Given the description of an element on the screen output the (x, y) to click on. 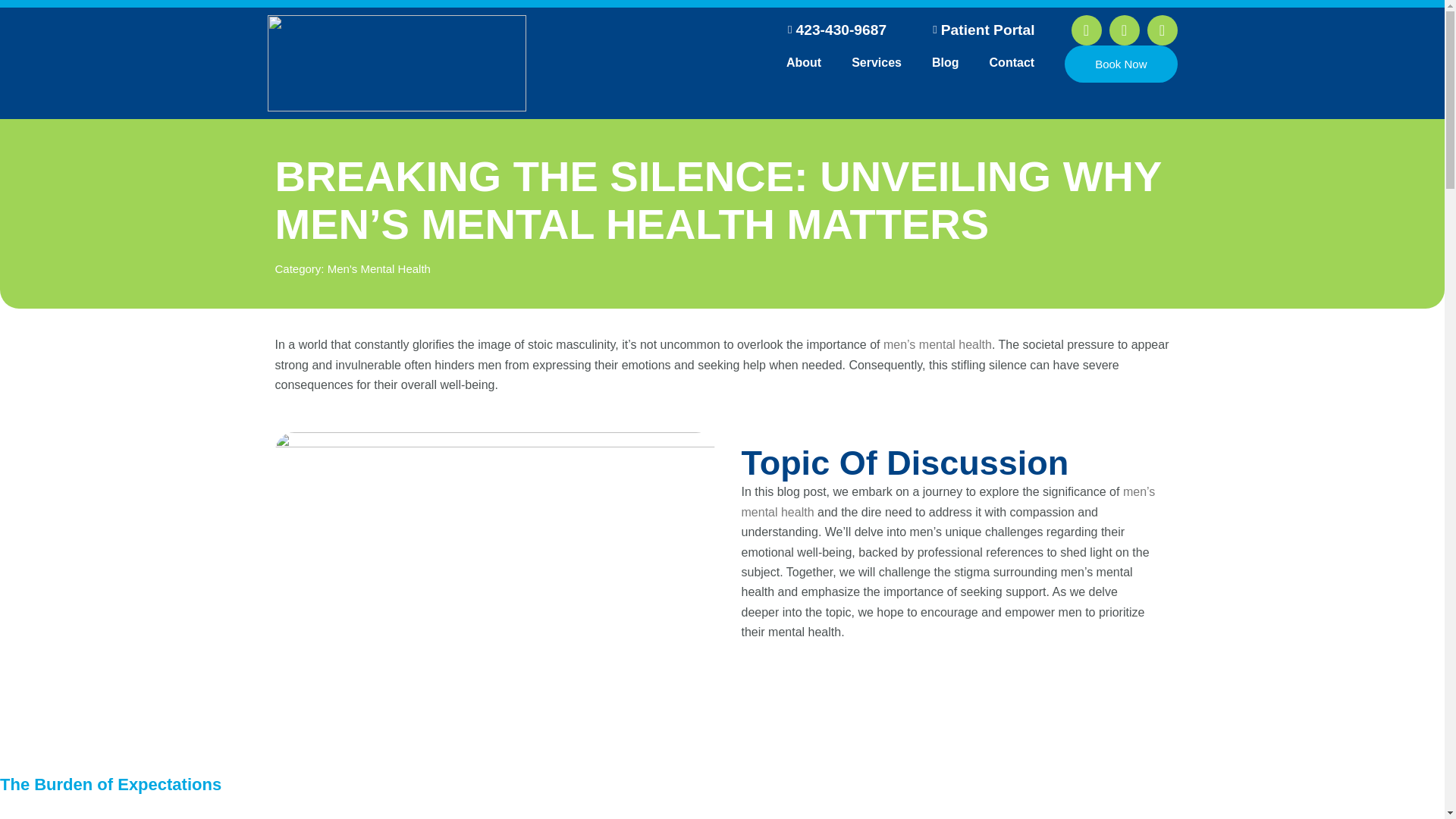
Blog (945, 62)
Instagram (1123, 30)
Men's Mental Health (378, 268)
Facebook (1085, 30)
Patient Portal (978, 30)
423-430-9687 (831, 30)
Linkedin (1161, 30)
Book Now (1120, 63)
Contact (1011, 62)
Services (876, 62)
